Given the description of an element on the screen output the (x, y) to click on. 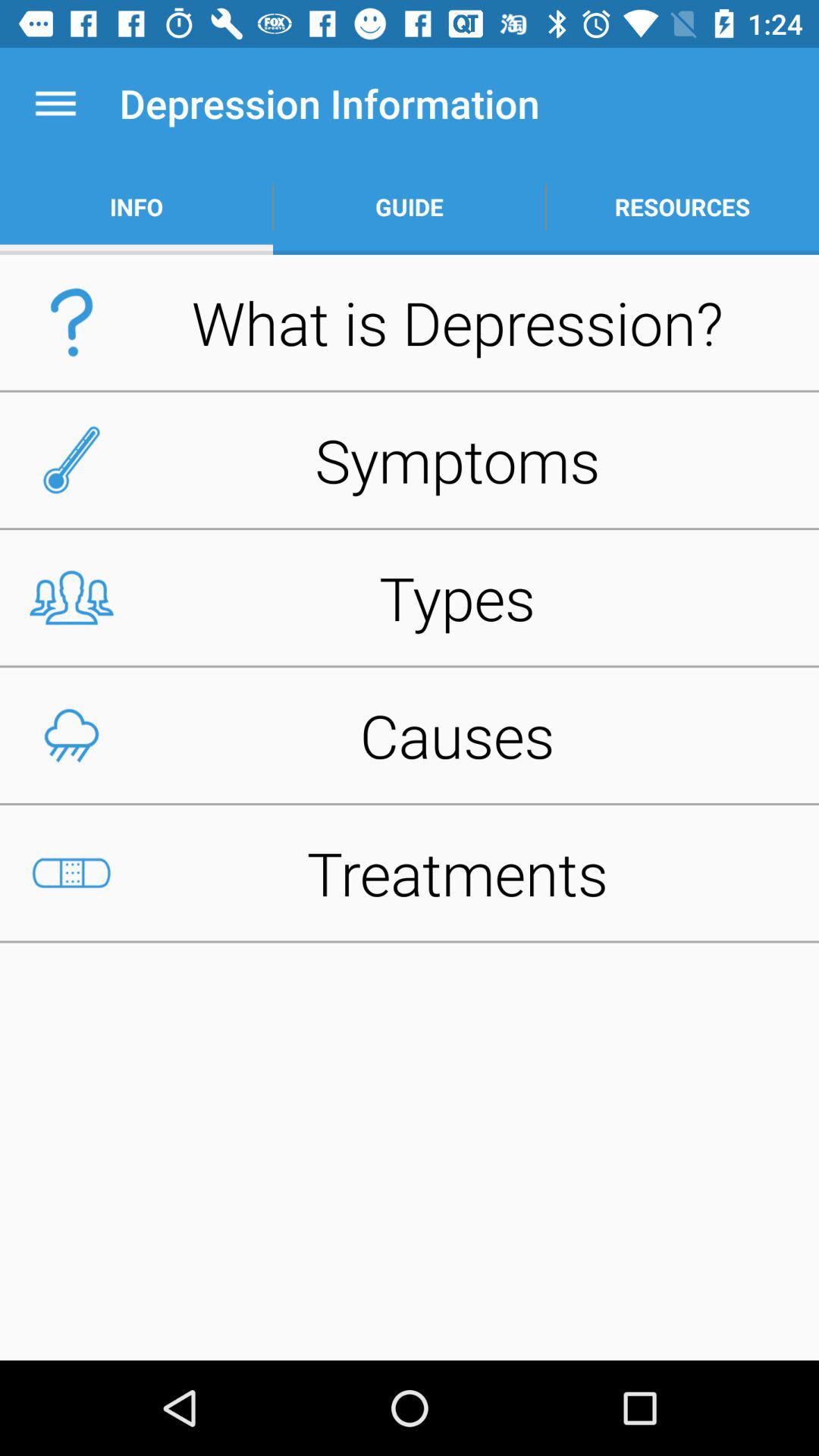
turn on app next to the guide (682, 206)
